Given the description of an element on the screen output the (x, y) to click on. 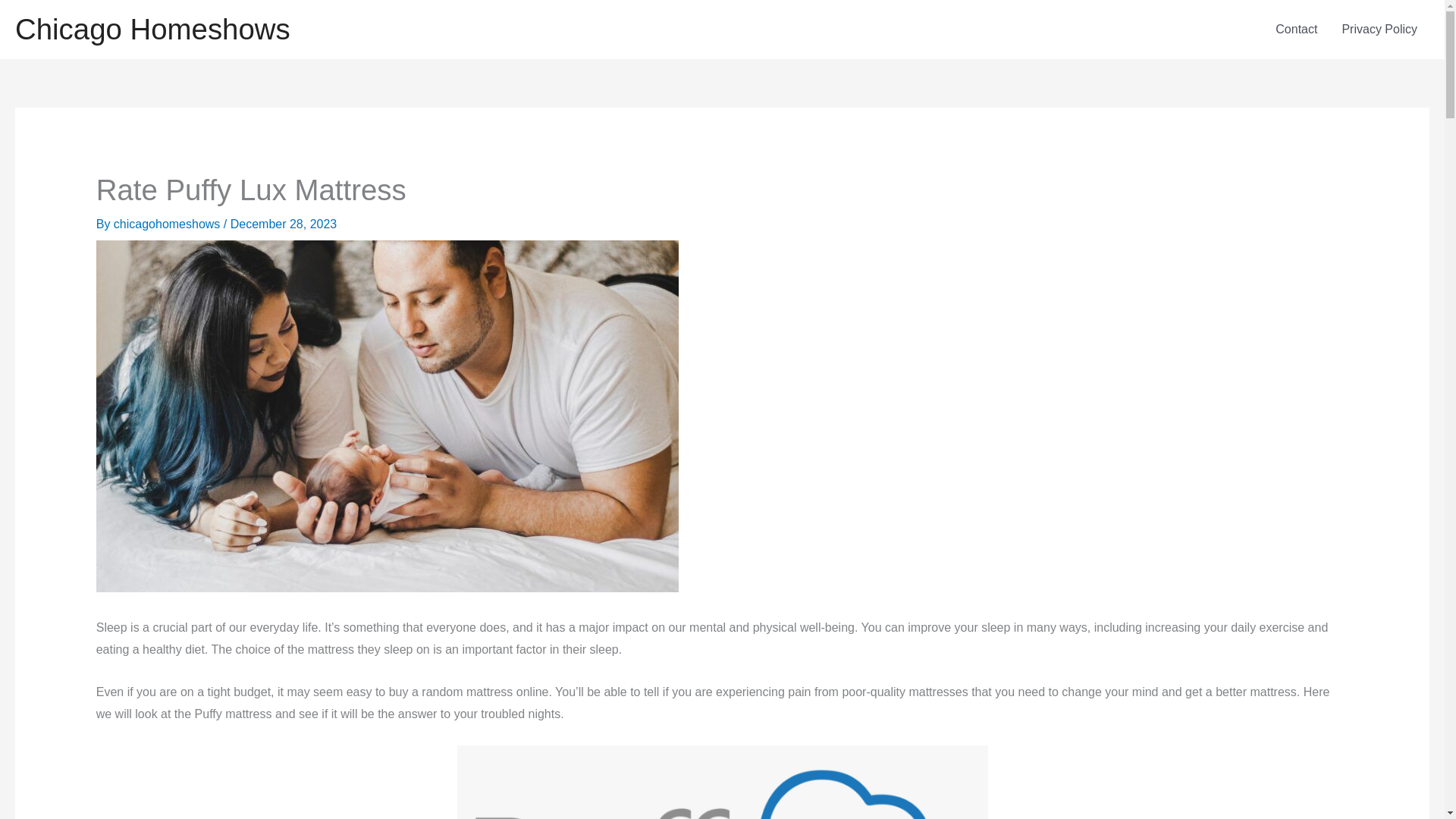
View all posts by chicagohomeshows (168, 223)
Contact (1296, 29)
Chicago Homeshows (151, 29)
Privacy Policy (1379, 29)
chicagohomeshows (168, 223)
